Given the description of an element on the screen output the (x, y) to click on. 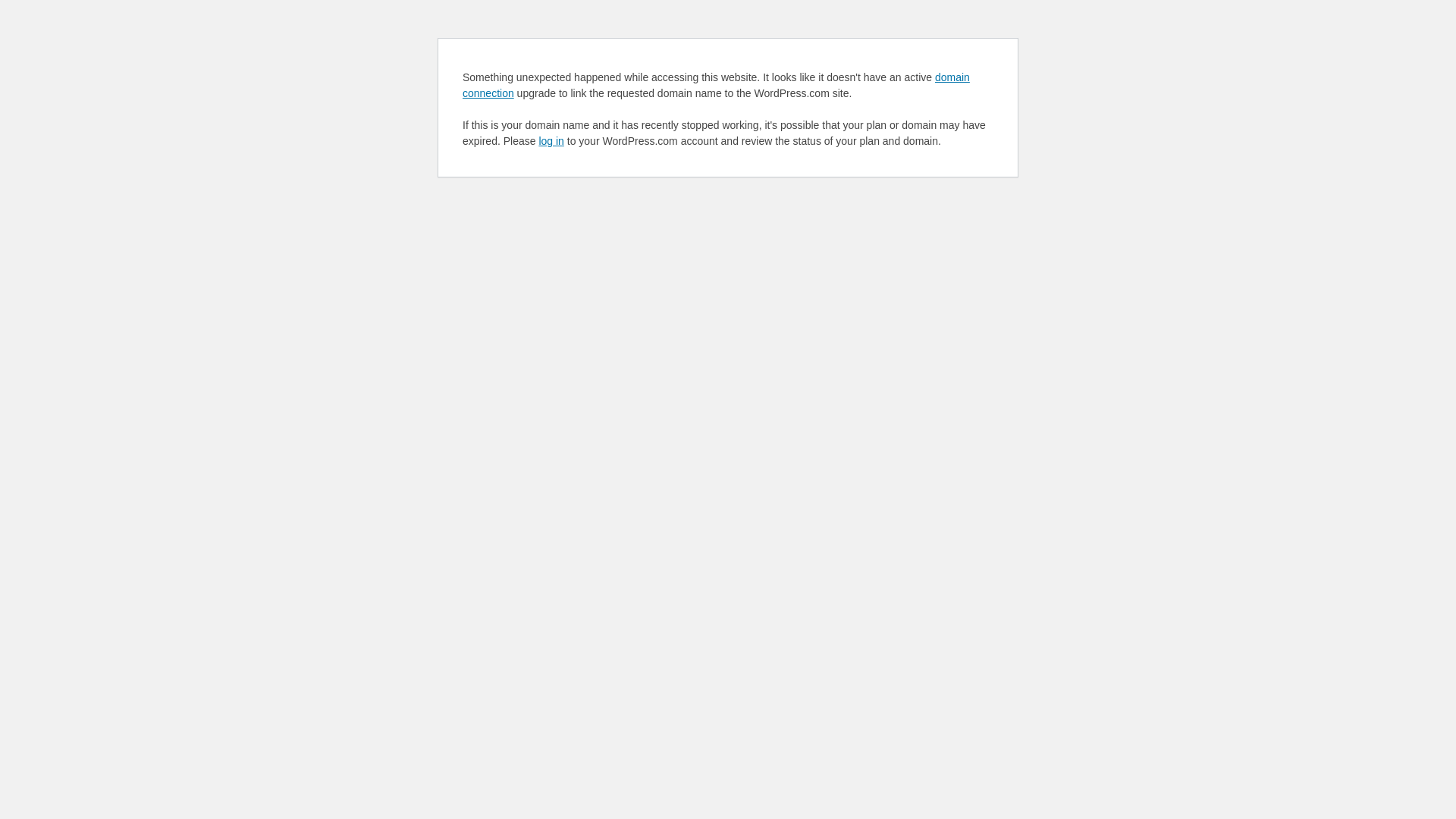
log in Element type: text (550, 140)
domain connection Element type: text (715, 85)
